Given the description of an element on the screen output the (x, y) to click on. 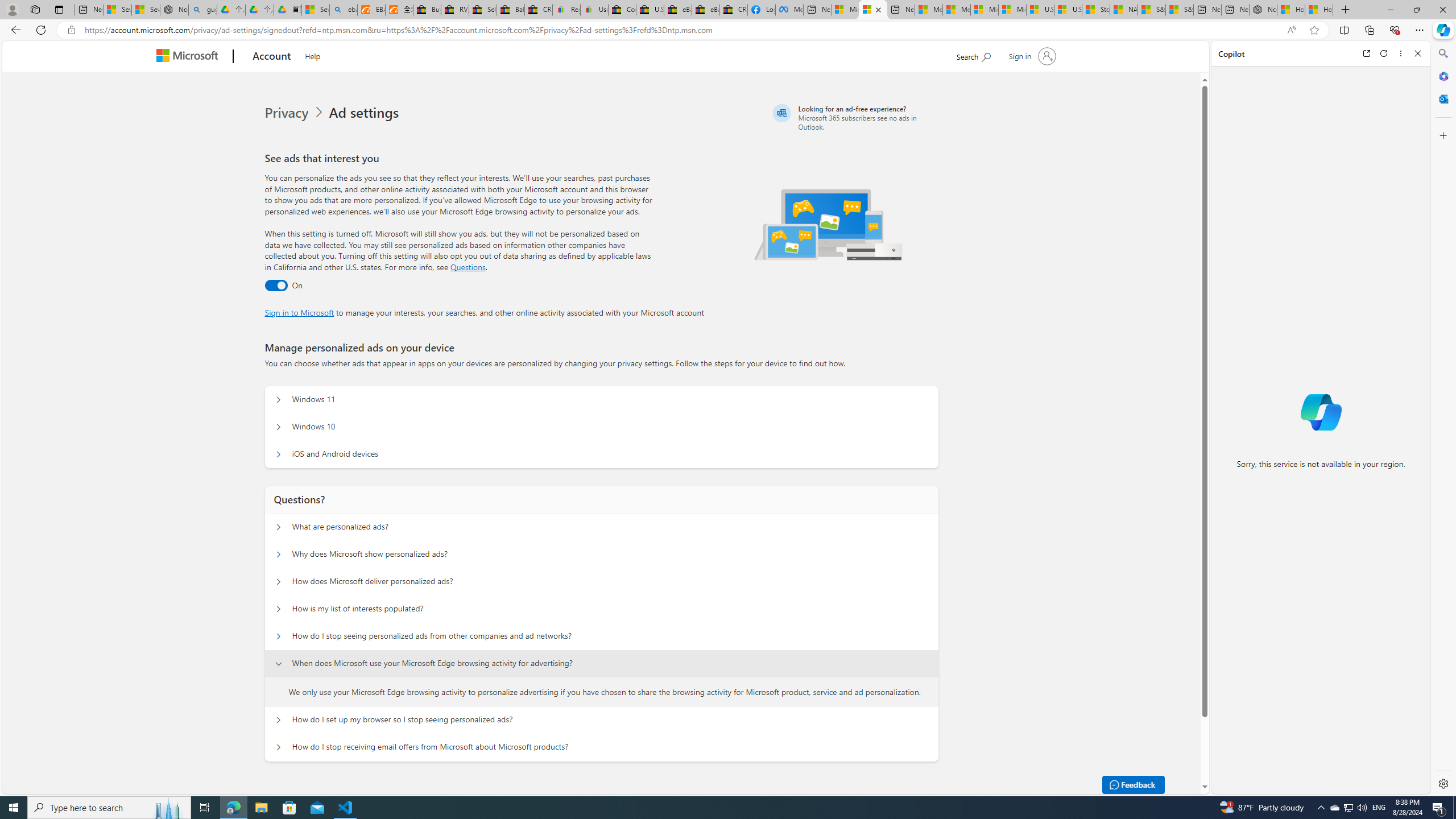
Ad settings (366, 112)
